Given the description of an element on the screen output the (x, y) to click on. 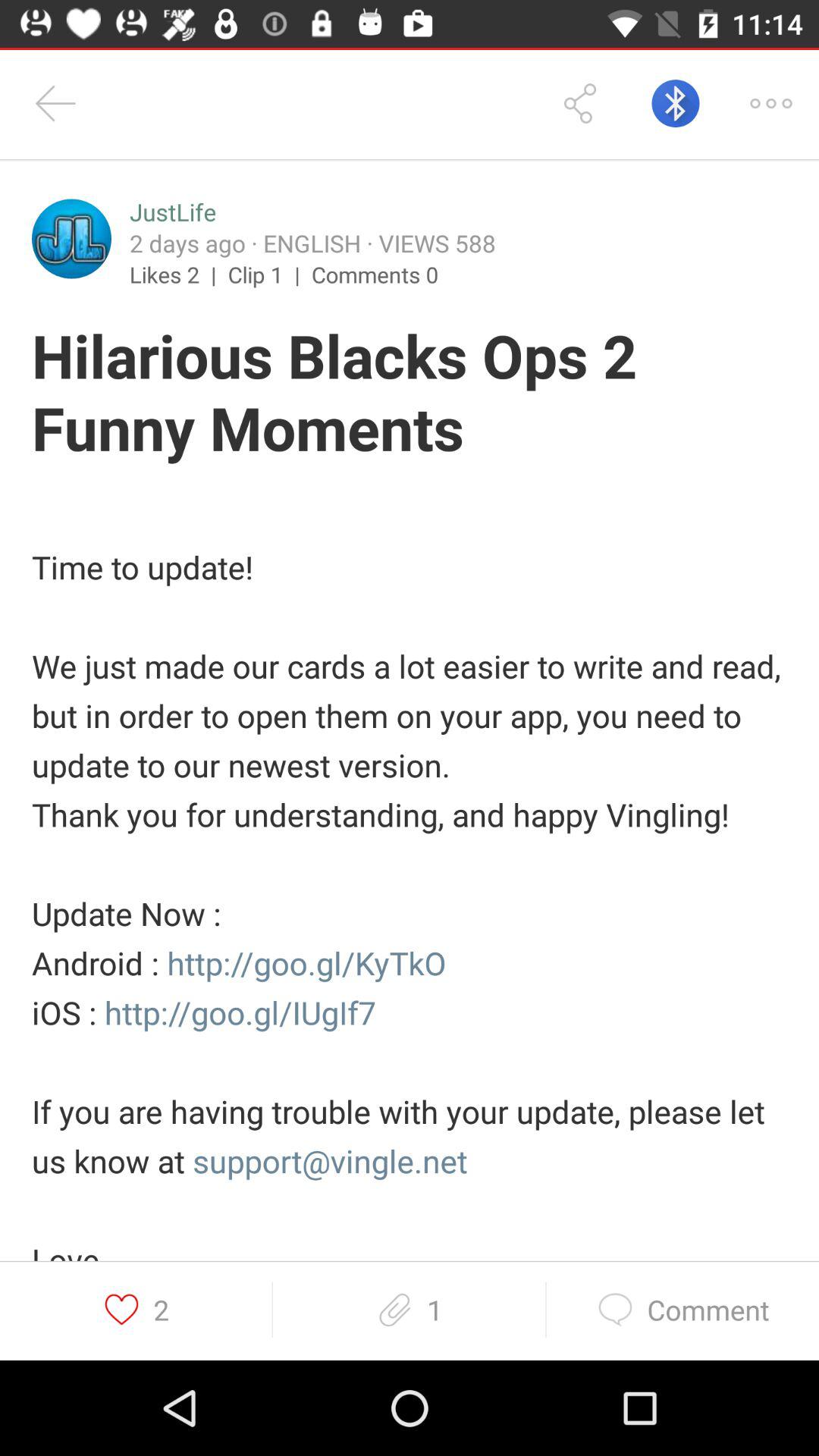
go to profile (71, 238)
